Given the description of an element on the screen output the (x, y) to click on. 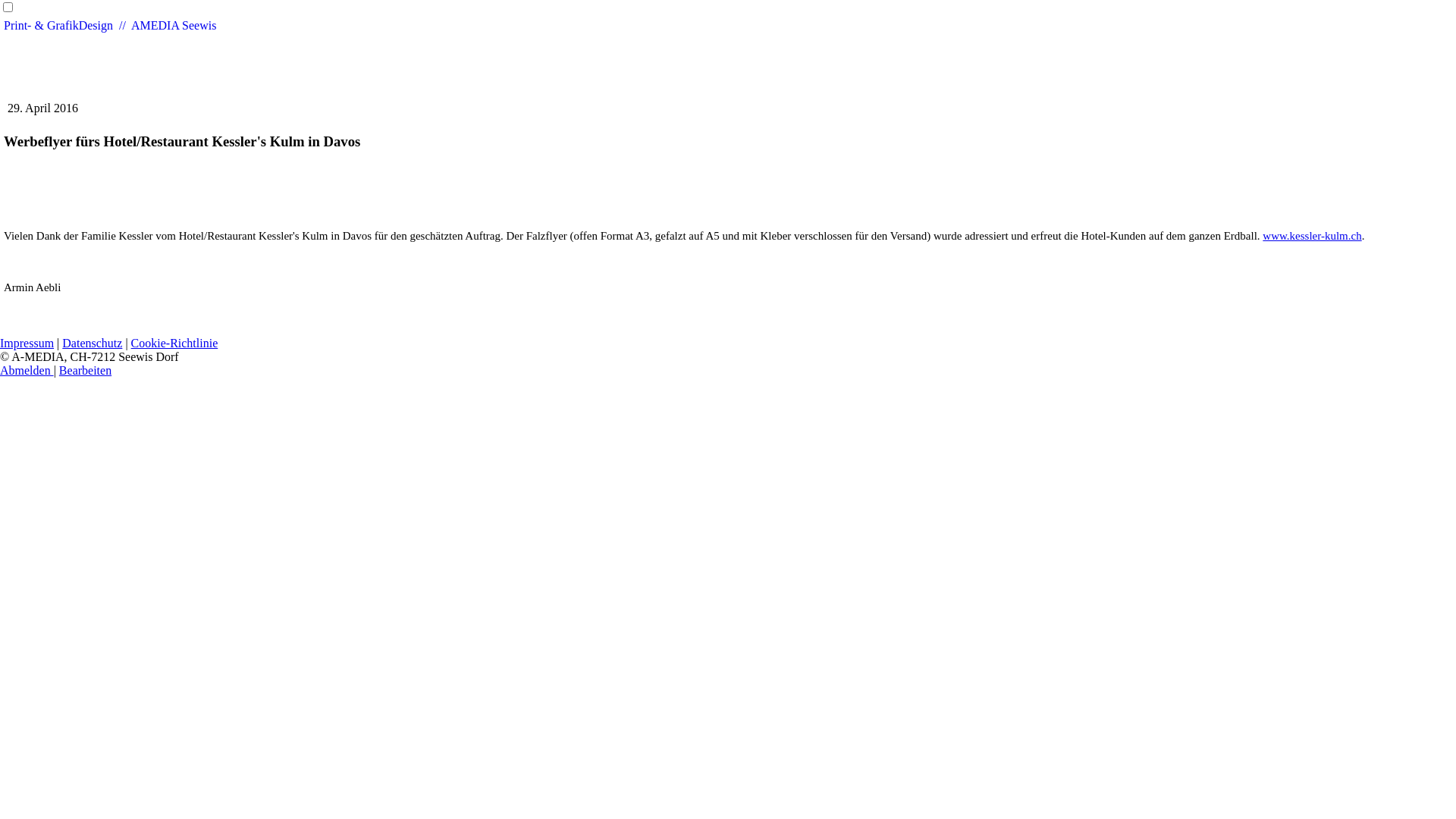
Cookie-Richtlinie Element type: text (174, 342)
Datenschutz Element type: text (92, 342)
Impressum Element type: text (26, 342)
Abmelden Element type: text (26, 370)
Bearbeiten Element type: text (85, 370)
www.kessler-kulm.ch Element type: text (1311, 235)
Print- & GrafikDesign  //  AMEDIA Seewis Element type: text (109, 24)
